Given the description of an element on the screen output the (x, y) to click on. 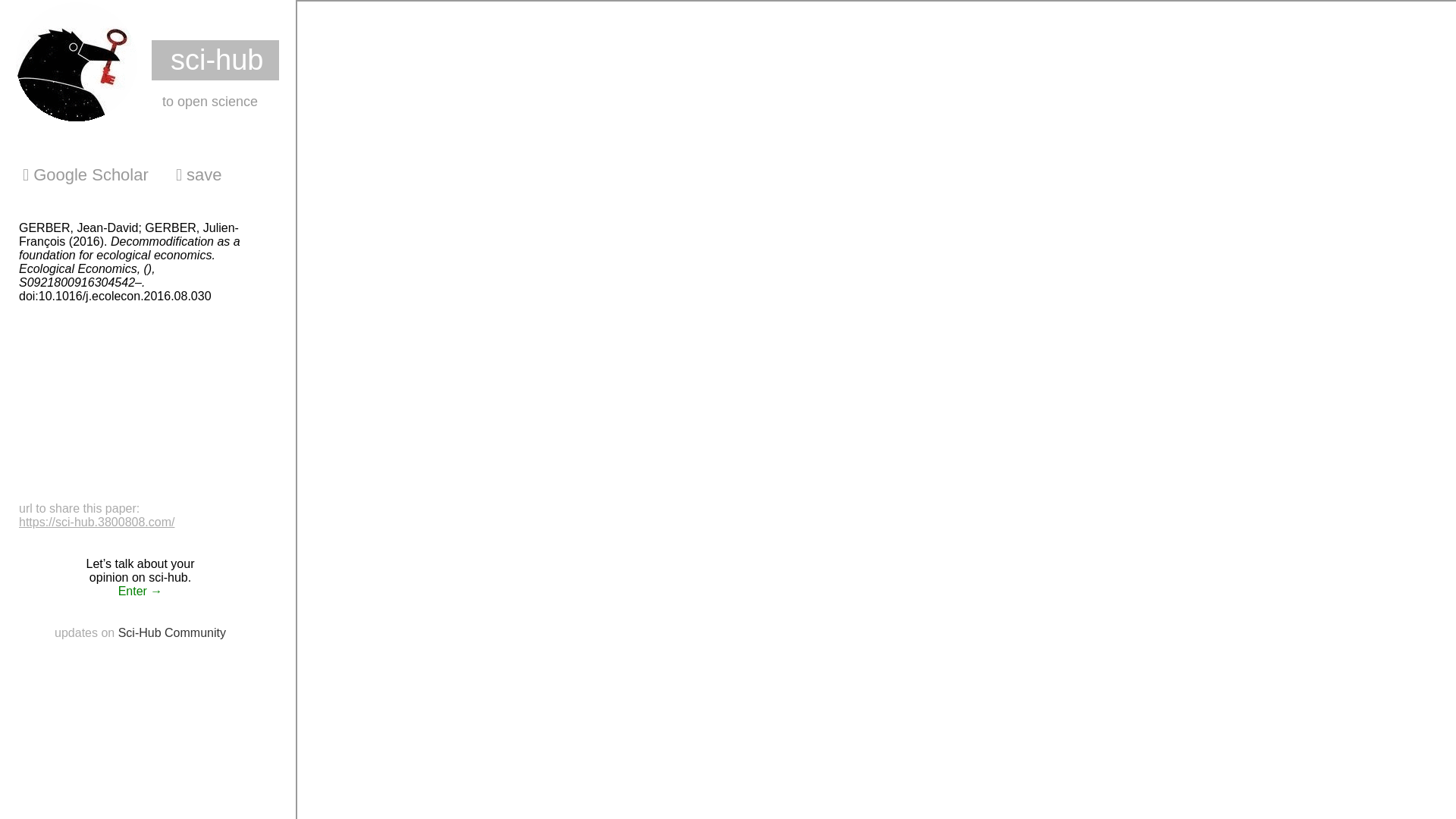
sci-hub
to open science Element type: text (140, 61)
Advertisement Element type: hover (132, 407)
Sci-Hub Community Element type: text (171, 632)
https://sci-hub.3800808.com/ Element type: text (96, 521)
